Given the description of an element on the screen output the (x, y) to click on. 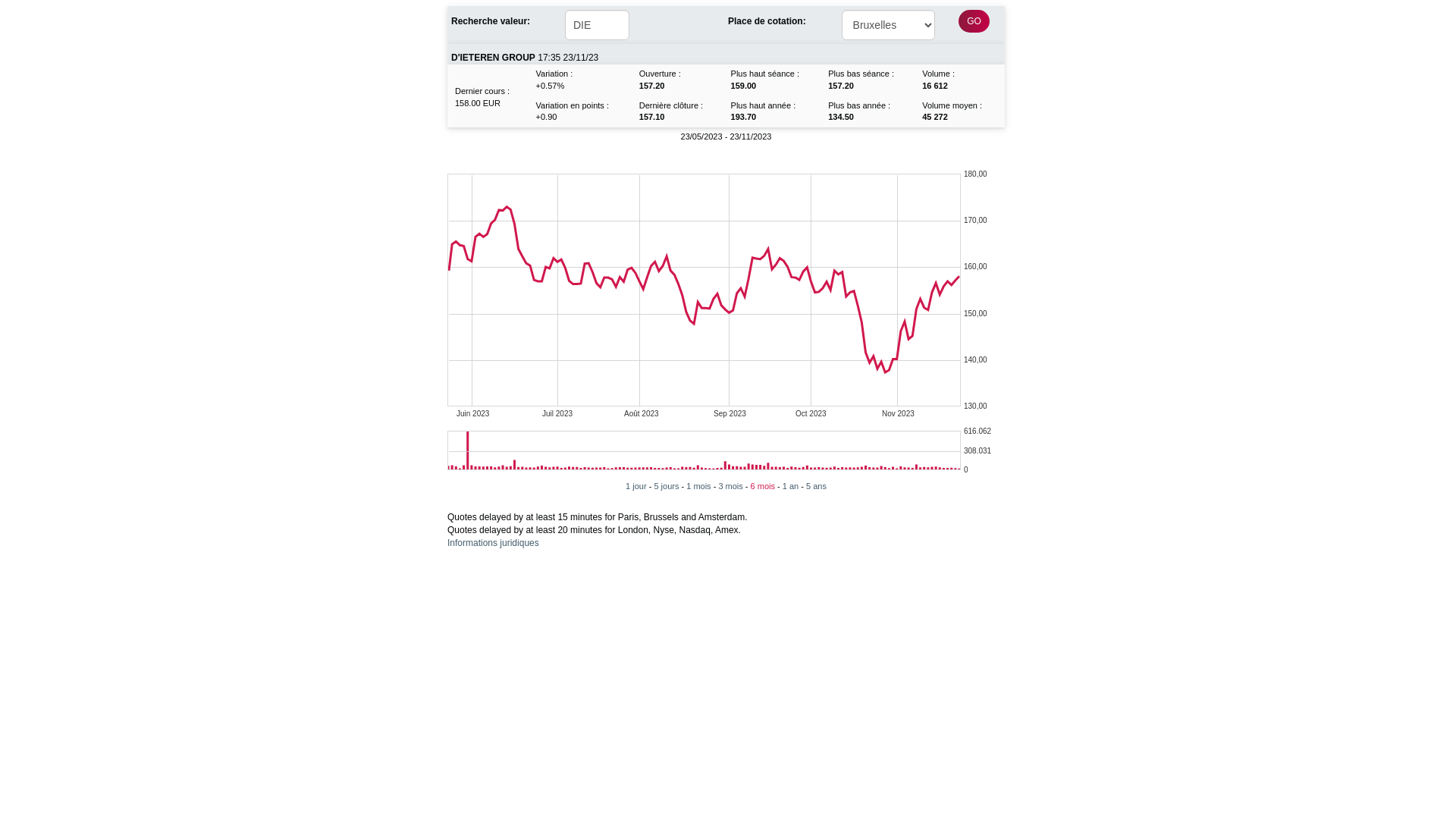
6 mois Element type: text (762, 485)
1 an Element type: text (790, 485)
5 ans Element type: text (816, 485)
GO Element type: text (973, 20)
3 mois Element type: text (730, 485)
5 jours Element type: text (665, 485)
1 mois Element type: text (698, 485)
Informations juridiques Element type: text (493, 542)
1 jour Element type: text (635, 485)
DIE Element type: text (596, 24)
